Given the description of an element on the screen output the (x, y) to click on. 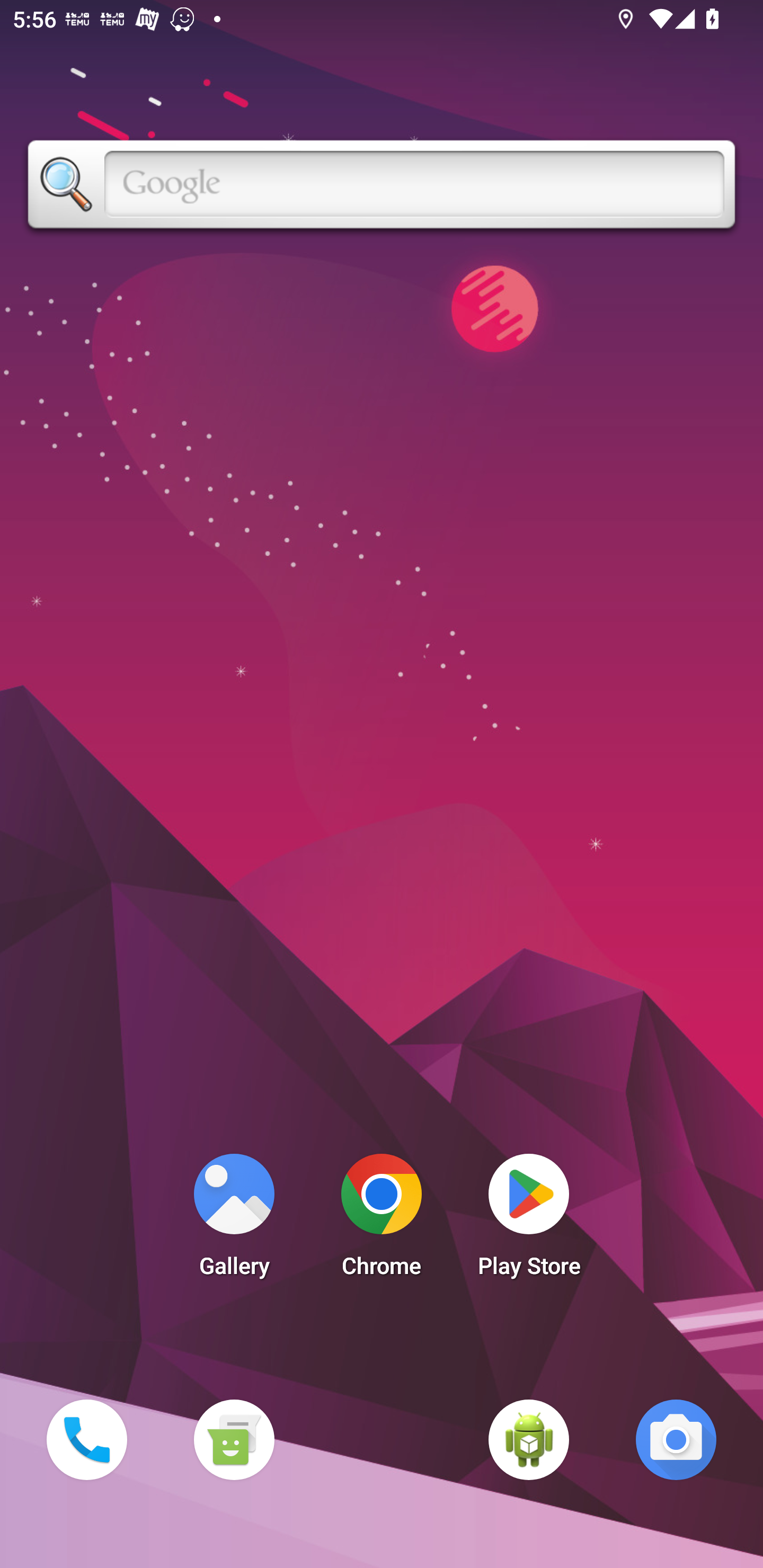
Gallery (233, 1220)
Chrome (381, 1220)
Play Store (528, 1220)
Phone (86, 1439)
Messaging (233, 1439)
WebView Browser Tester (528, 1439)
Camera (676, 1439)
